Given the description of an element on the screen output the (x, y) to click on. 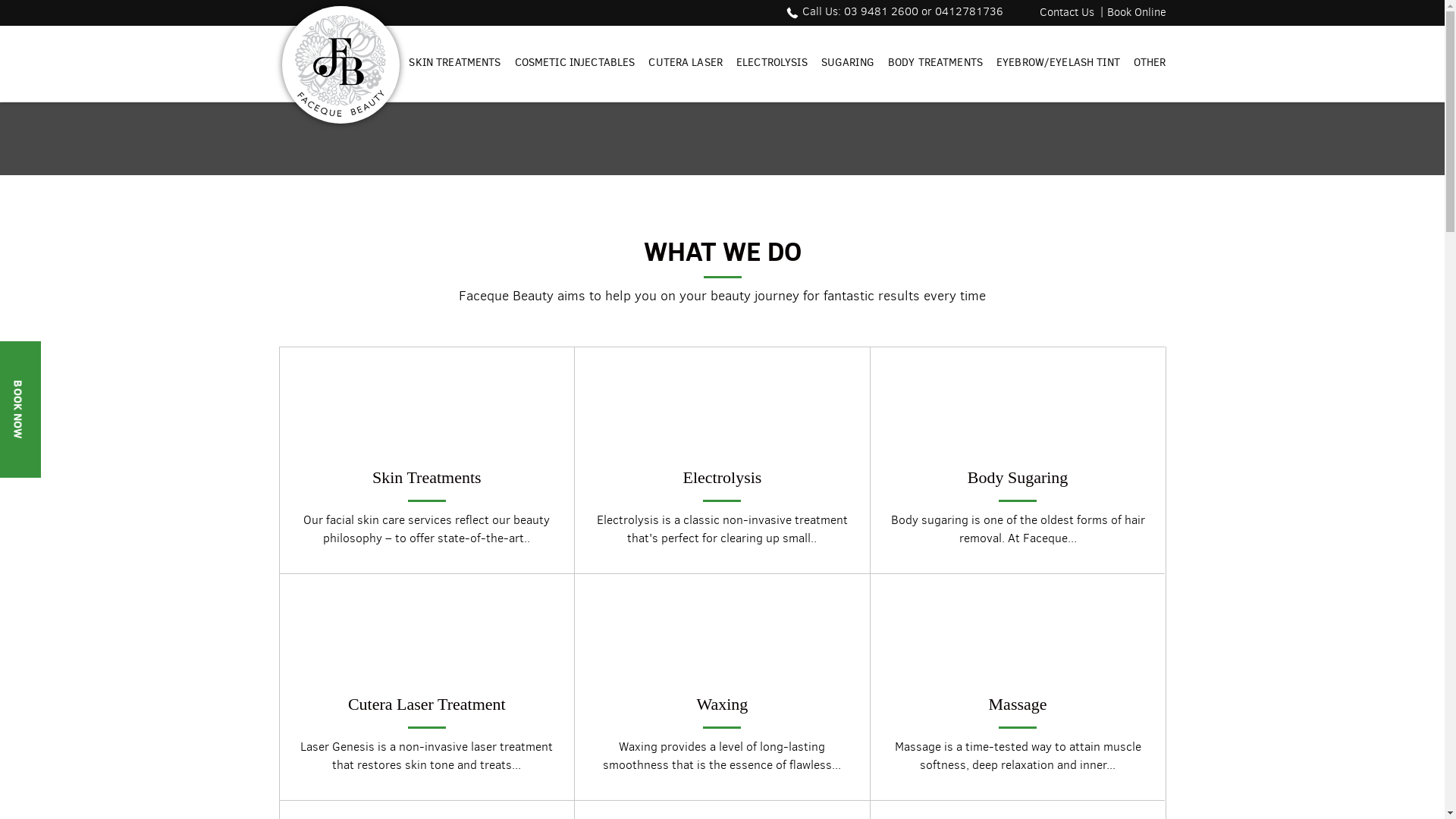
EYEBROW/EYELASH TINT Element type: text (1058, 61)
ELECTROLYSIS Element type: text (771, 61)
SKIN TREATMENTS Element type: text (454, 61)
CUTERA LASER Element type: text (685, 61)
Contact Us Element type: text (1066, 11)
Book Online Element type: text (1134, 11)
COSMETIC INJECTABLES Element type: text (574, 61)
SUGARING Element type: text (847, 61)
logo Element type: hover (339, 65)
Call Us: 03 9481 2600 or 0412781736 Element type: text (892, 10)
OTHER Element type: text (1149, 61)
BODY TREATMENTS Element type: text (935, 61)
